Given the description of an element on the screen output the (x, y) to click on. 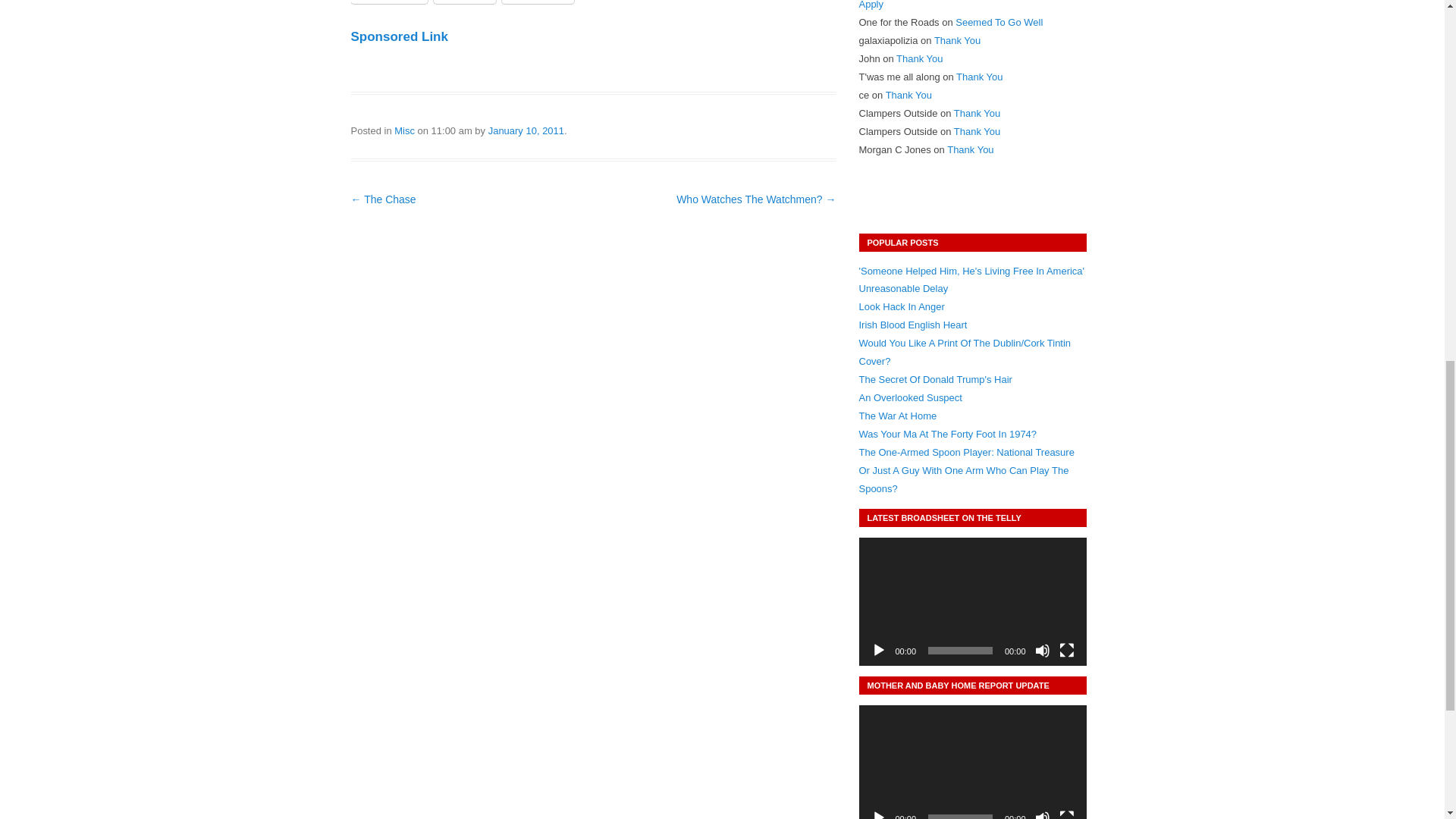
Click to share on Twitter (464, 2)
Misc (404, 130)
January 10, 2011 (525, 130)
Pinterest (537, 2)
Facebook (388, 2)
Click to share on Pinterest (537, 2)
Click to share on Facebook (388, 2)
Twitter (464, 2)
11:00 am (525, 130)
